Given the description of an element on the screen output the (x, y) to click on. 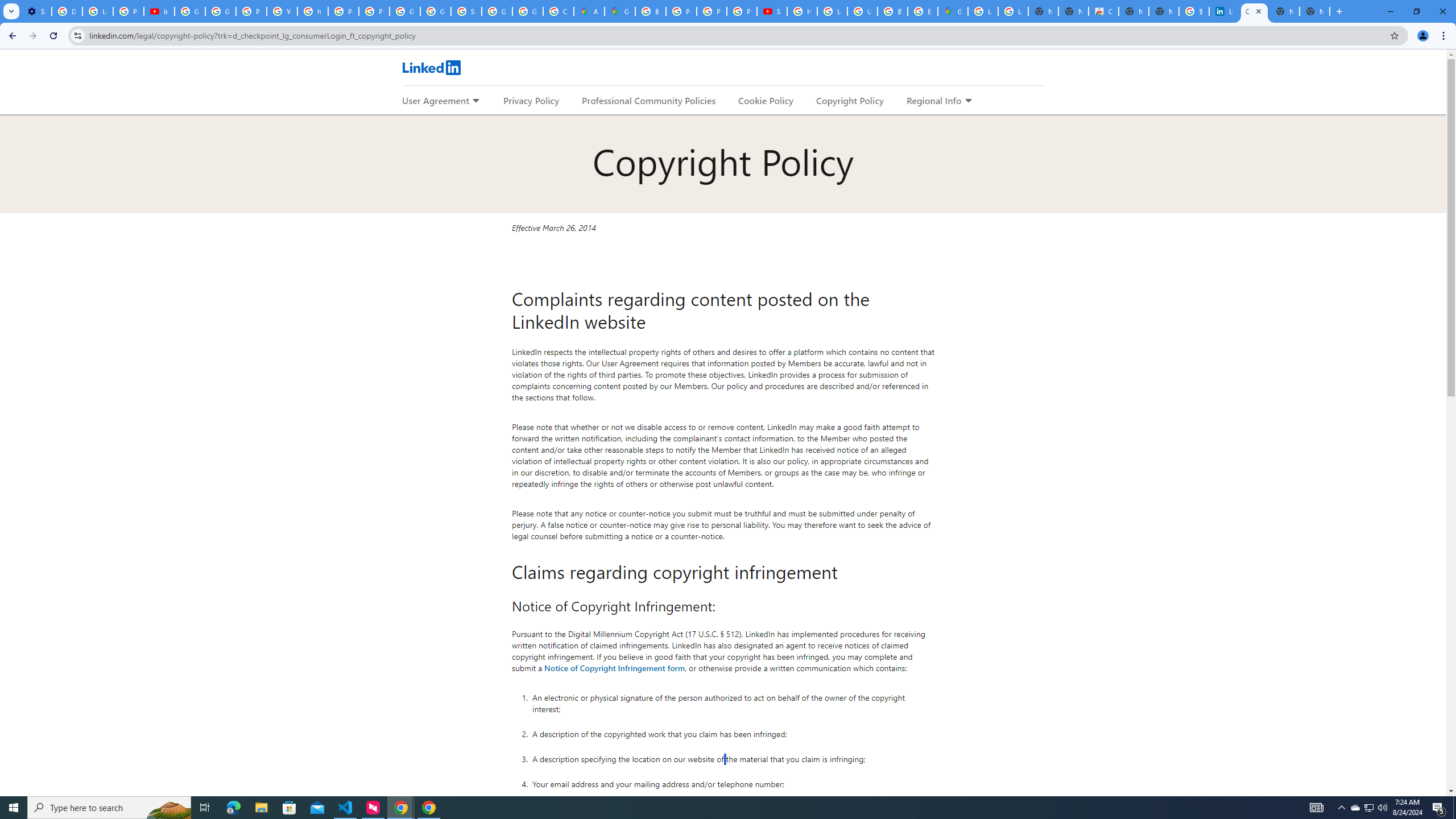
Blogger Policies and Guidelines - Transparency Center (650, 11)
Cookie Policy (765, 100)
LinkedIn Logo (430, 67)
Learn how to find your photos - Google Photos Help (97, 11)
How Chrome protects your passwords - Google Chrome Help (801, 11)
Settings - Customize profile (36, 11)
LinkedIn Login, Sign in | LinkedIn (1224, 11)
